Given the description of an element on the screen output the (x, y) to click on. 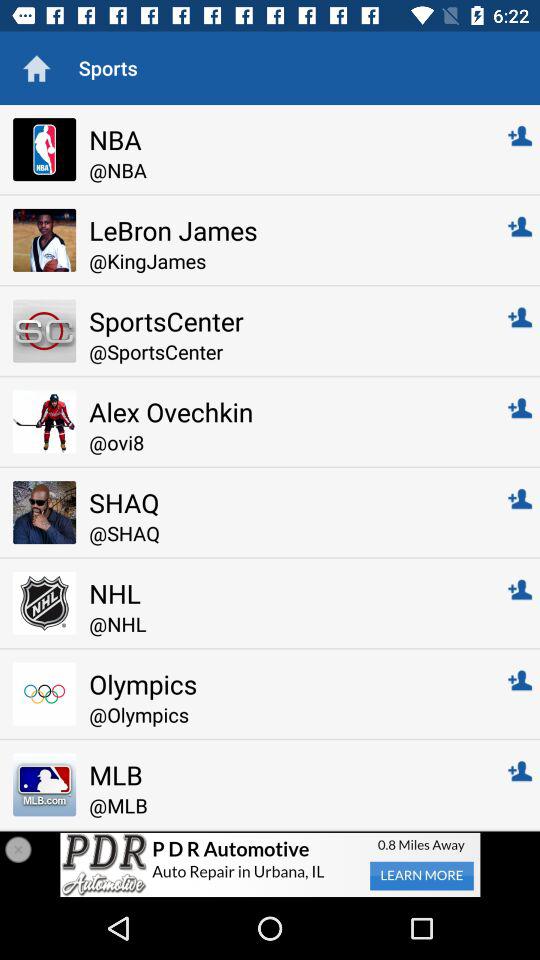
choose the item above @kingjames icon (284, 229)
